Given the description of an element on the screen output the (x, y) to click on. 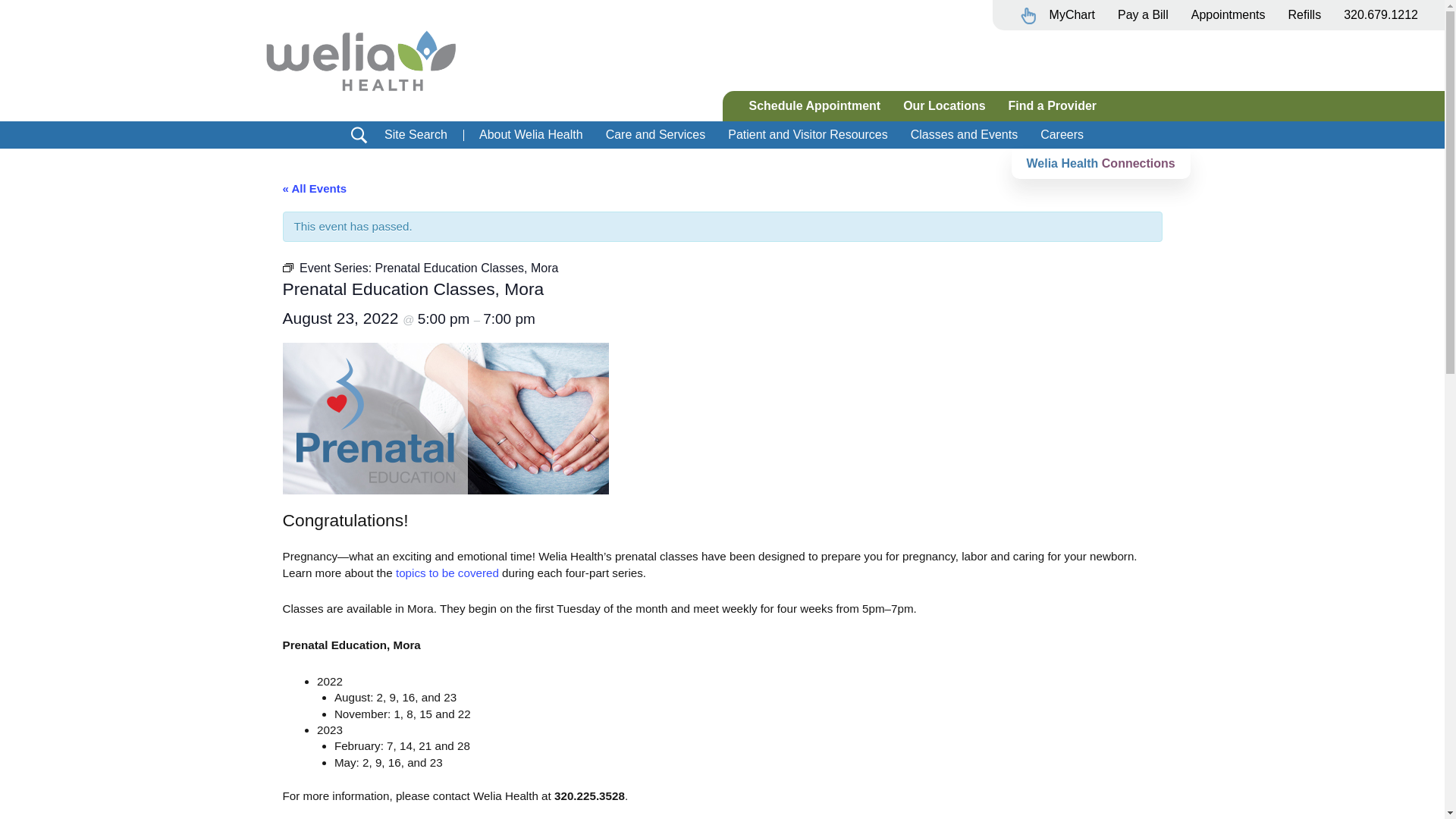
Our Locations (943, 105)
Refills (1304, 14)
320.679.1212 (1380, 14)
Find a Provider (1052, 105)
Appointments (1227, 14)
Pay a Bill (1142, 14)
Event Series (287, 266)
Classes and Events (964, 134)
Schedule Appointment (813, 105)
MyChart (1056, 18)
